Given the description of an element on the screen output the (x, y) to click on. 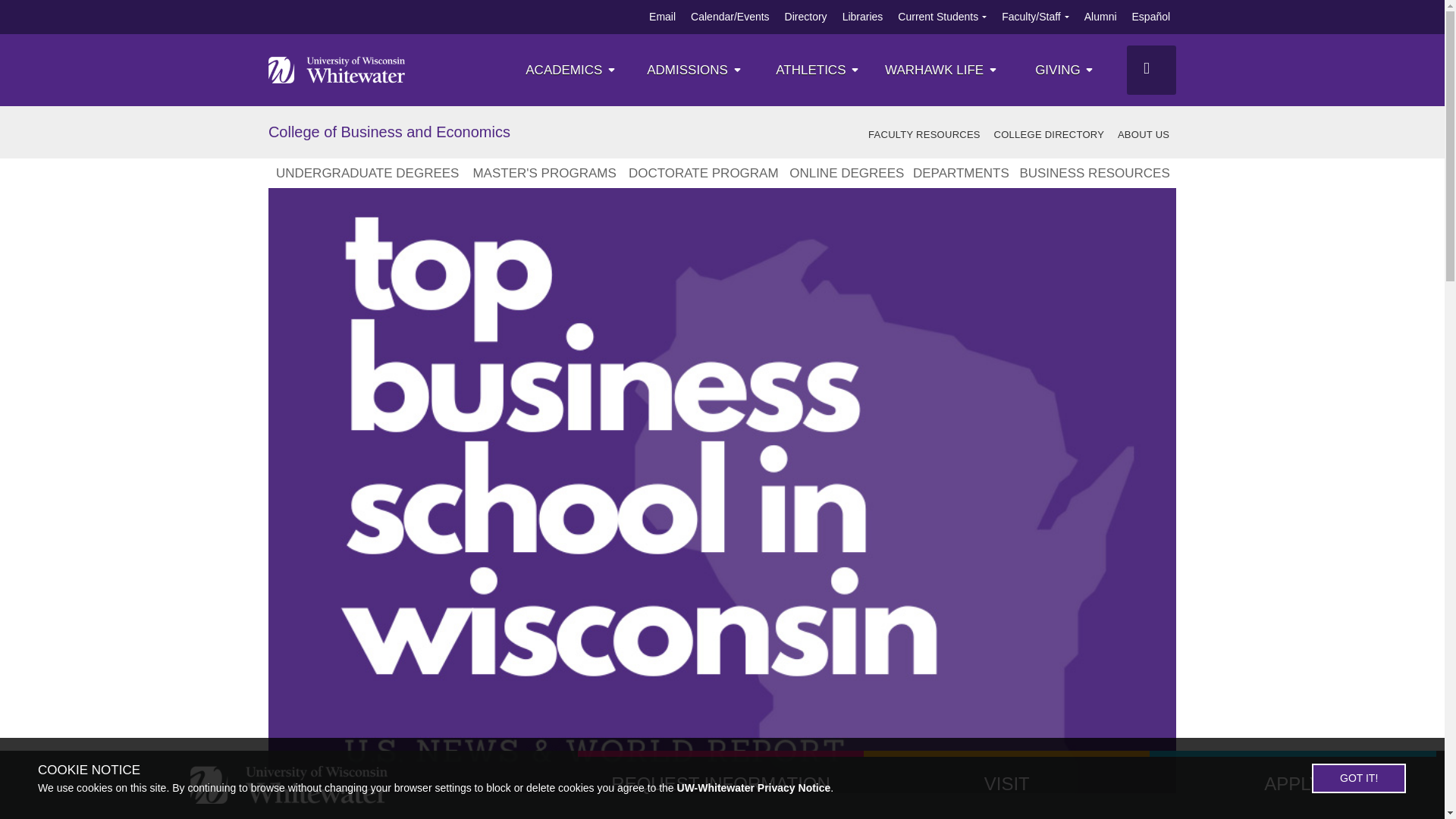
Alumni (1100, 16)
Directory (805, 16)
ACADEMICS (571, 70)
Email (662, 16)
Current Students (938, 16)
Libraries (863, 16)
